Given the description of an element on the screen output the (x, y) to click on. 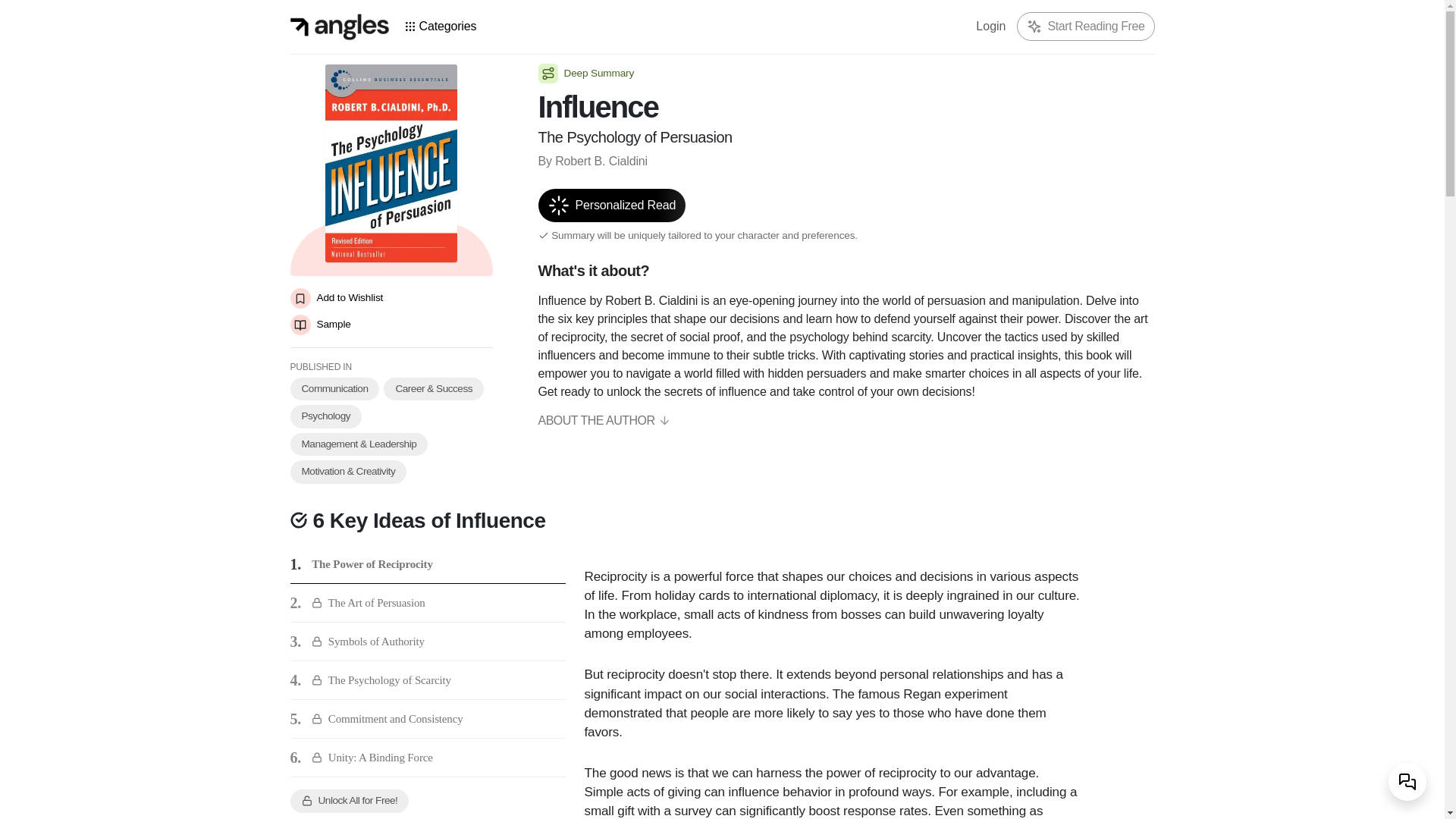
Add to Wishlist (390, 298)
The Art of Persuasion (368, 602)
Personalized Read (611, 205)
Sample (390, 324)
Login (990, 26)
The Psychology of Scarcity (381, 680)
Sample (390, 324)
Communication (333, 388)
Start Reading Free (1096, 26)
Psychology (325, 415)
